Given the description of an element on the screen output the (x, y) to click on. 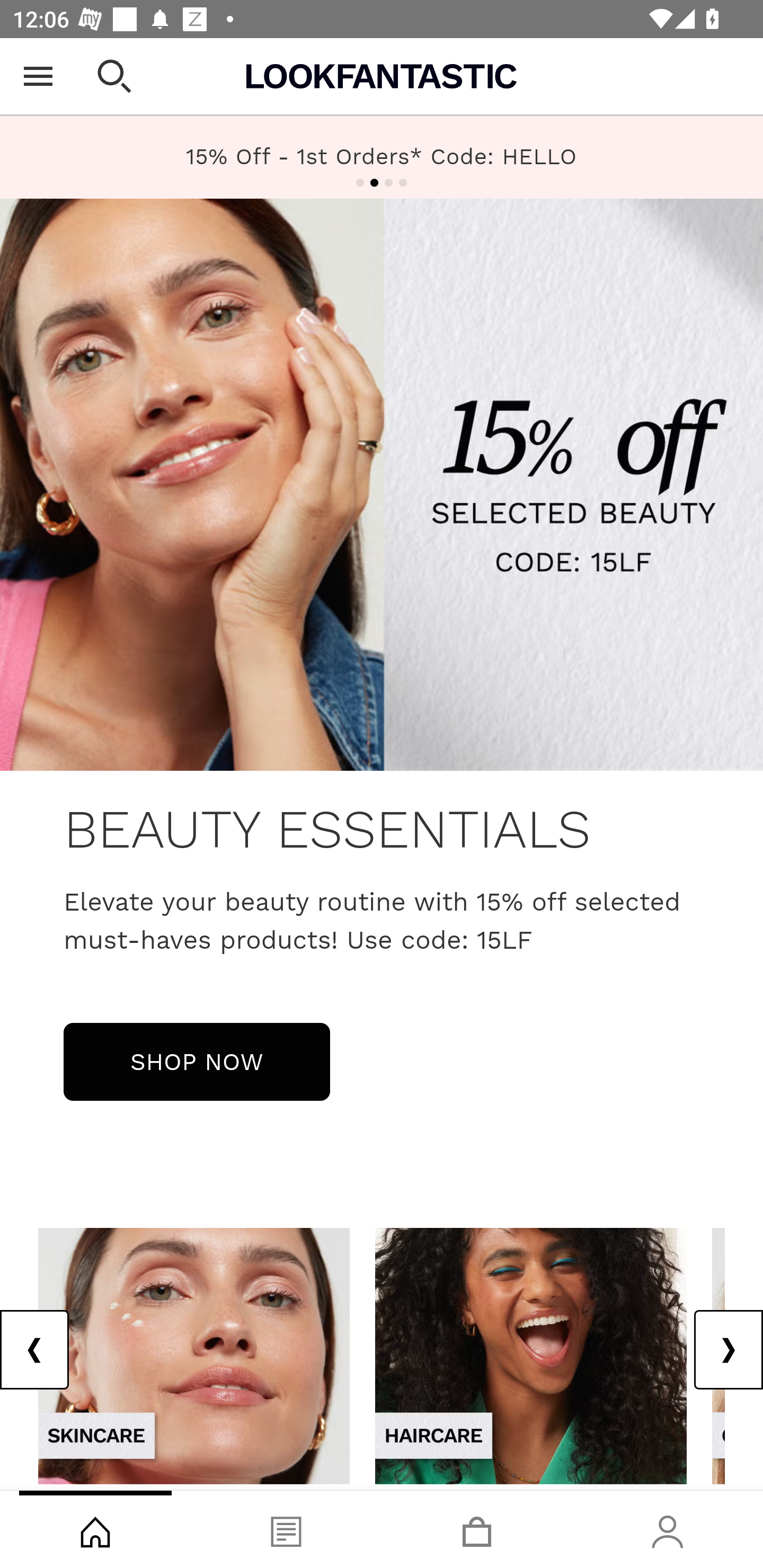
Open Menu (38, 75)
Open search (114, 75)
Lookfantastic USA (381, 75)
SHOP NOW (196, 1061)
view-all (193, 1355)
view-all (530, 1355)
Previous (35, 1349)
Next (727, 1349)
Shop, tab, 1 of 4 (95, 1529)
Blog, tab, 2 of 4 (285, 1529)
Basket, tab, 3 of 4 (476, 1529)
Account, tab, 4 of 4 (667, 1529)
